Given the description of an element on the screen output the (x, y) to click on. 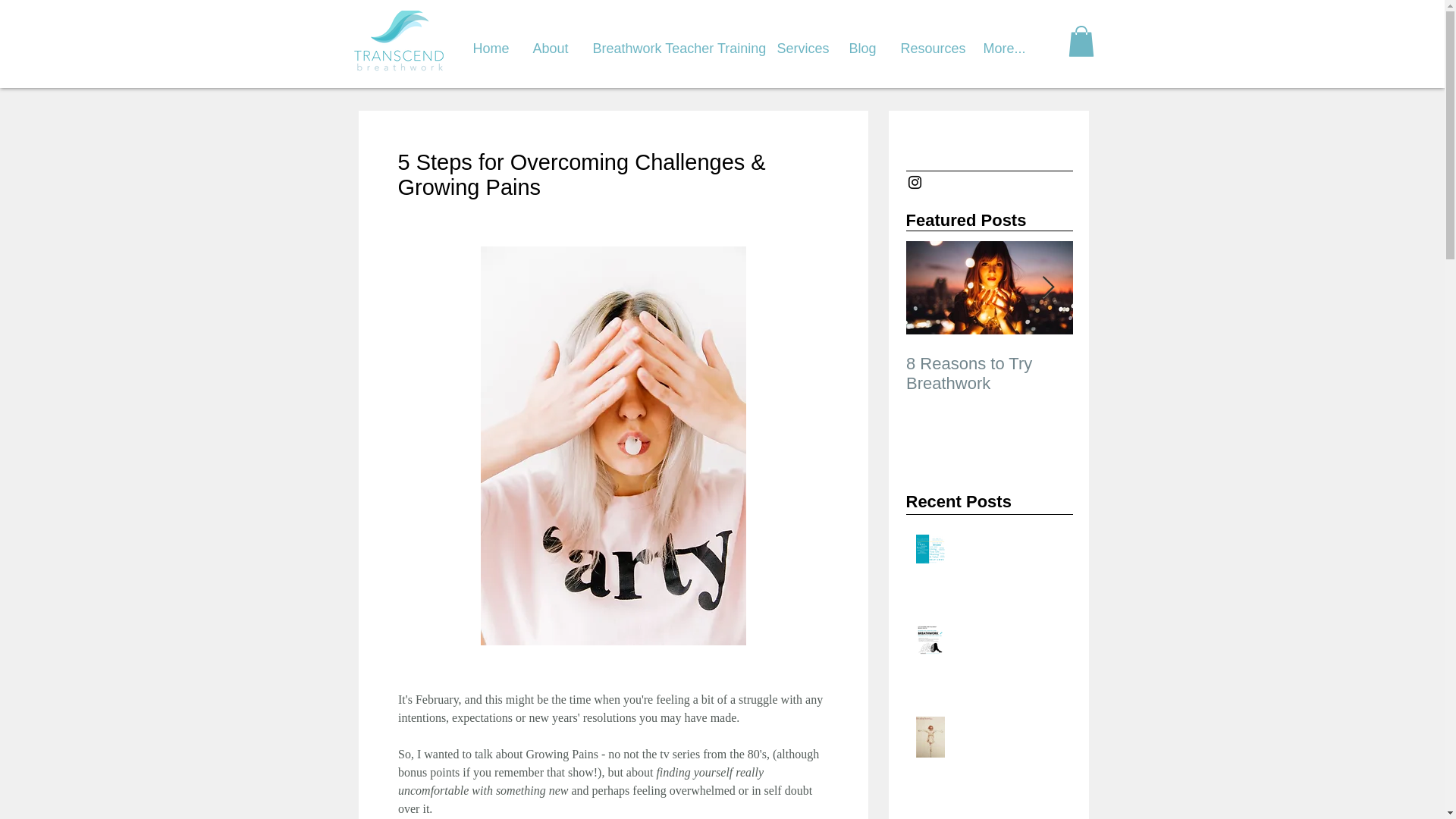
World Mental Health Day (1007, 644)
Go to Mexico...Or Change My Life? (1155, 373)
Resources (927, 41)
Breathwork Teacher Training (670, 41)
Focus on integration but let go of perfection (1007, 744)
Home (489, 41)
What true partnership looks like (1007, 561)
About (549, 41)
8 Reasons to Try Breathwork (988, 373)
Services (799, 41)
Blog (860, 41)
